Given the description of an element on the screen output the (x, y) to click on. 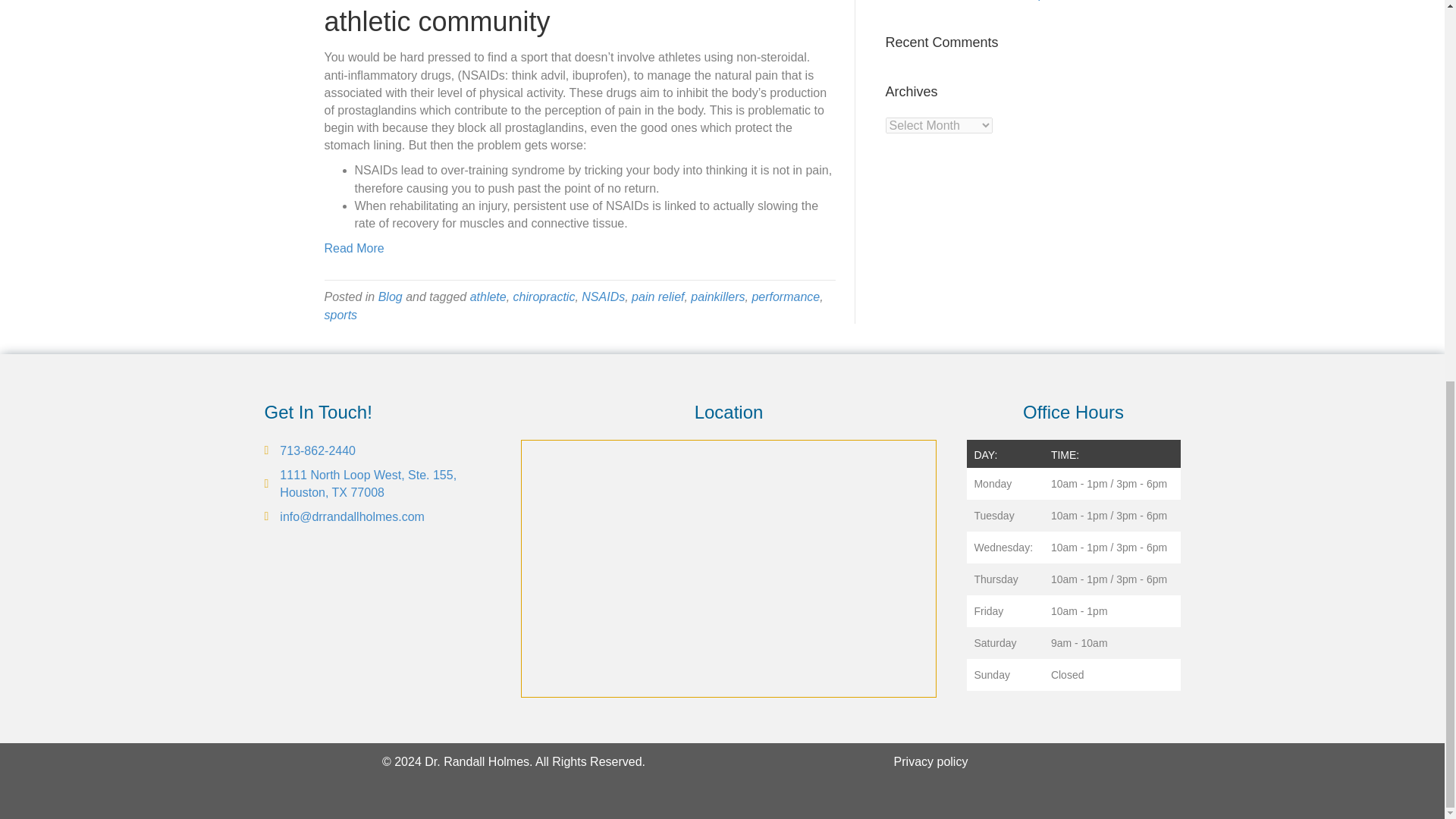
painkillers (717, 296)
NSAIDs (602, 296)
chiropractic (544, 296)
performance (785, 296)
Blog (390, 296)
athlete (488, 296)
sports (341, 314)
Read More (354, 247)
pain relief (657, 296)
